Given the description of an element on the screen output the (x, y) to click on. 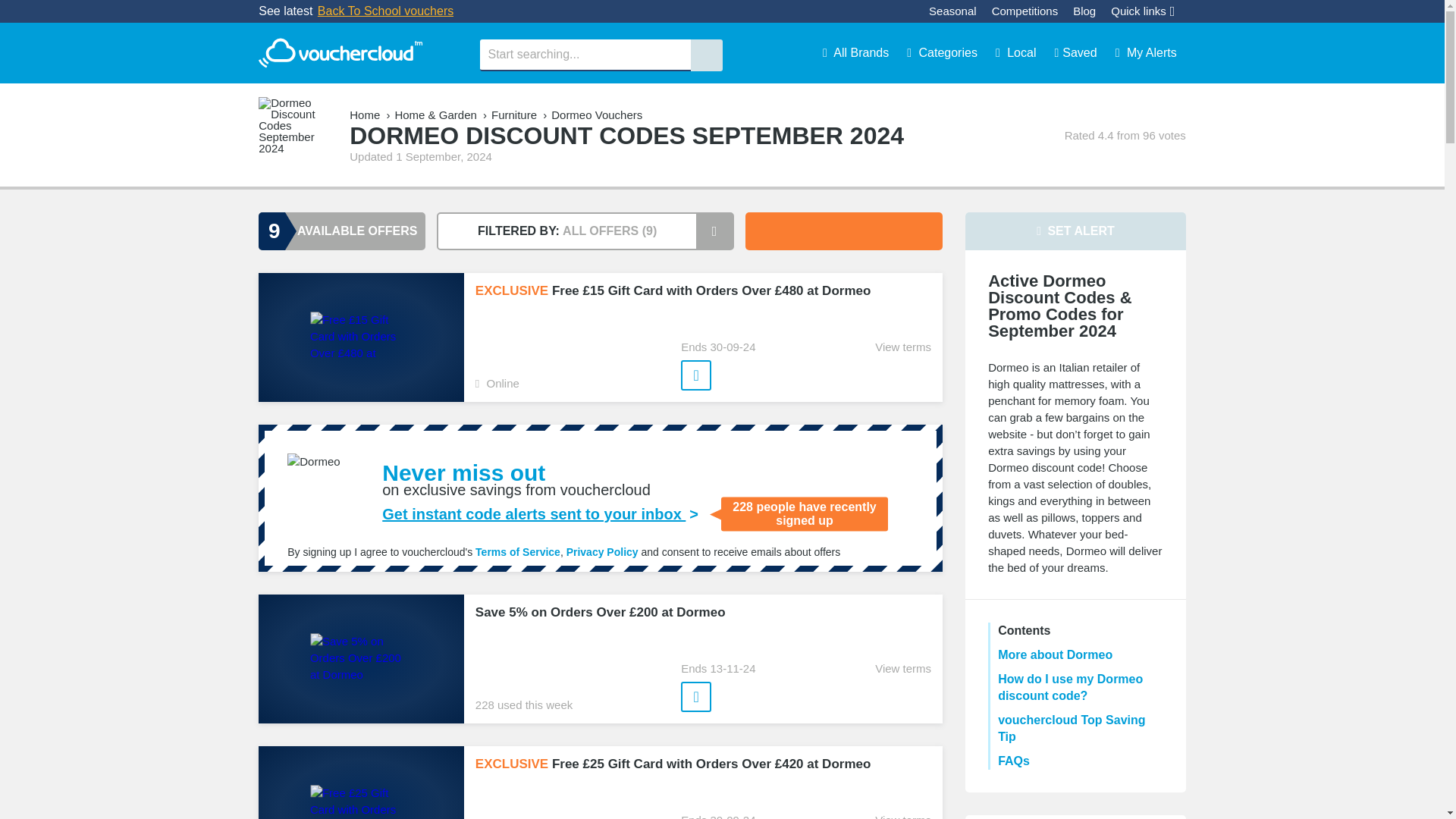
vouchercloud (340, 52)
SEARCH (706, 55)
